Given the description of an element on the screen output the (x, y) to click on. 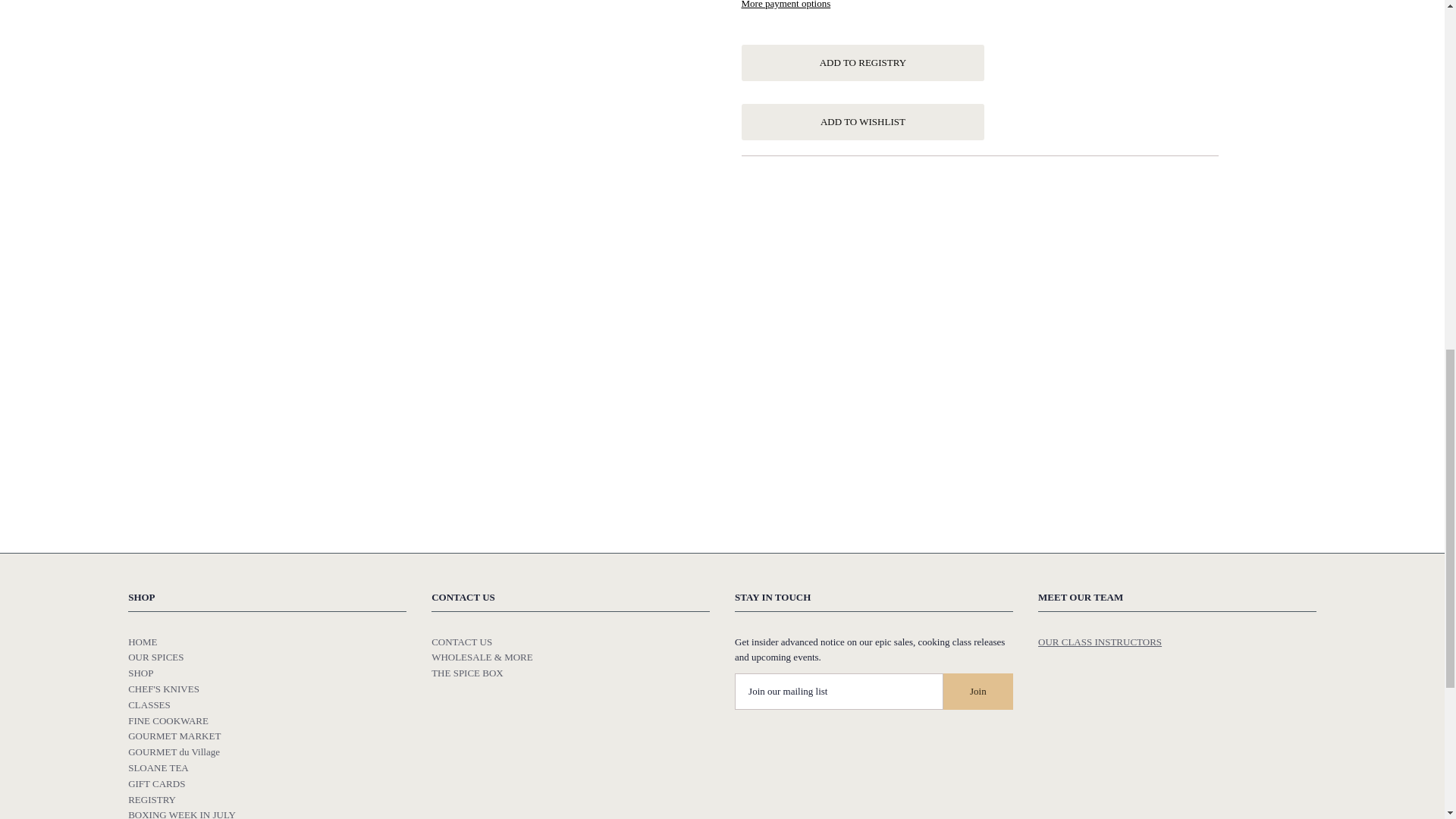
Join (978, 691)
ADD TO WISHLIST (863, 122)
ADD TO REGISTRY (863, 63)
